Given the description of an element on the screen output the (x, y) to click on. 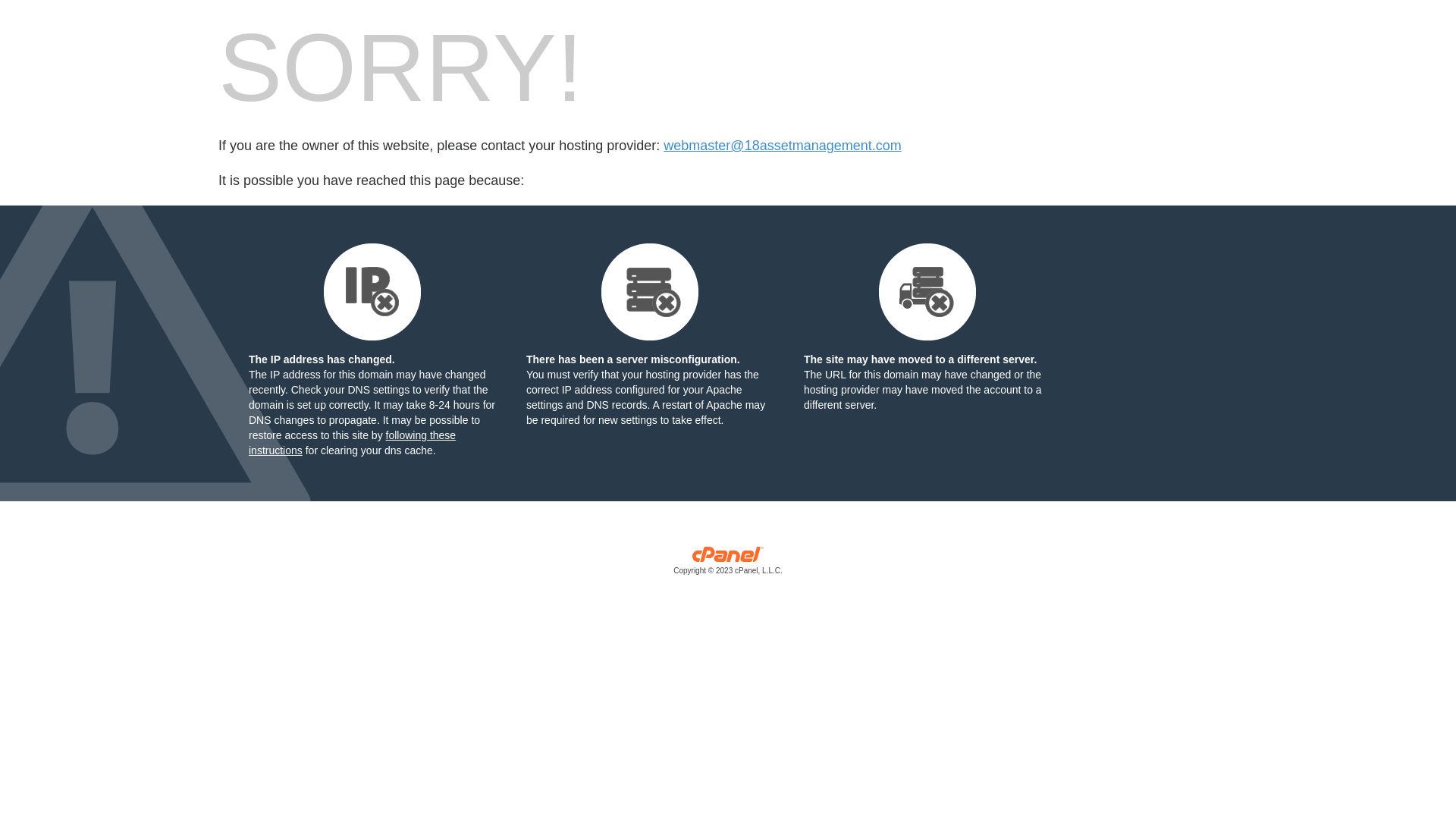
webmaster@18assetmanagement.com Element type: text (781, 145)
following these instructions Element type: text (351, 442)
